Given the description of an element on the screen output the (x, y) to click on. 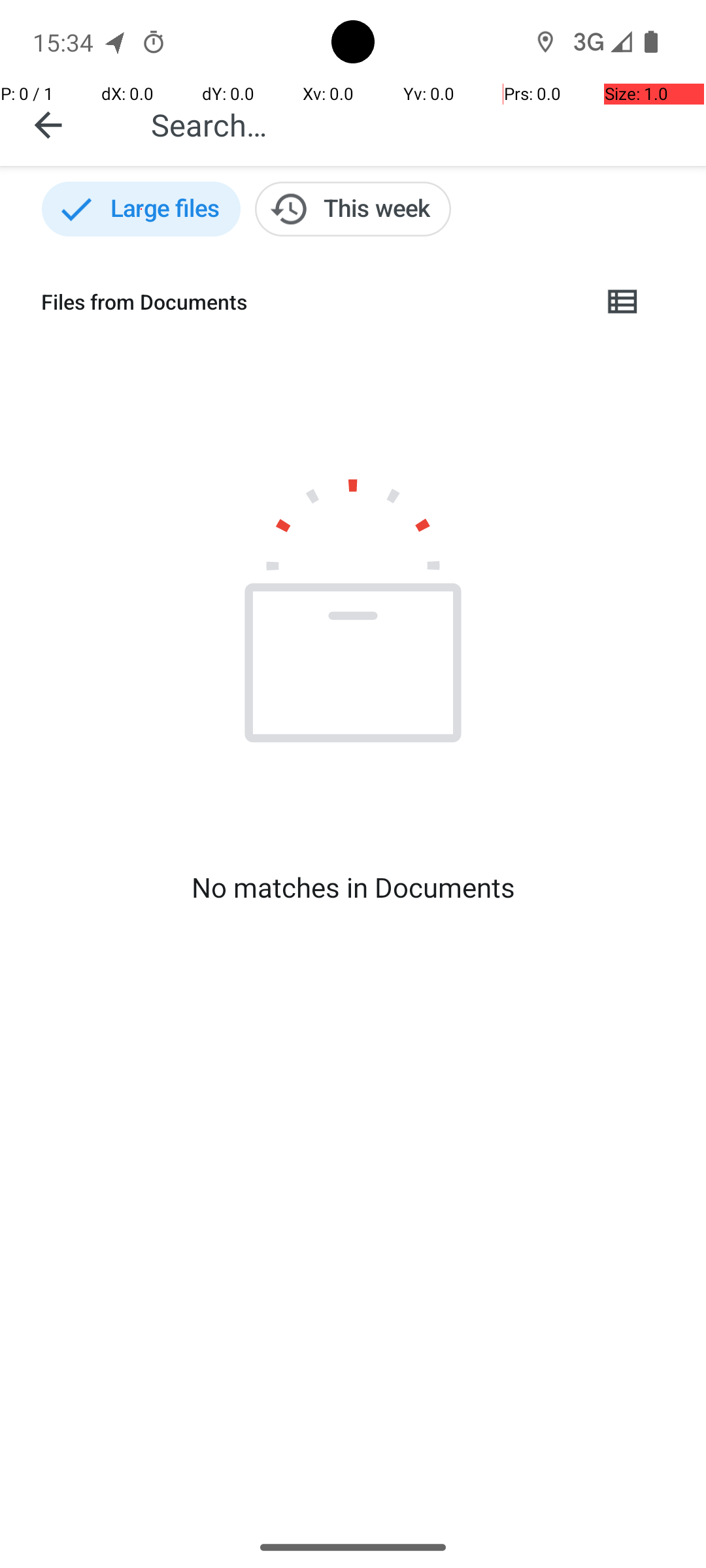
No matches in Documents Element type: android.widget.TextView (352, 886)
